Given the description of an element on the screen output the (x, y) to click on. 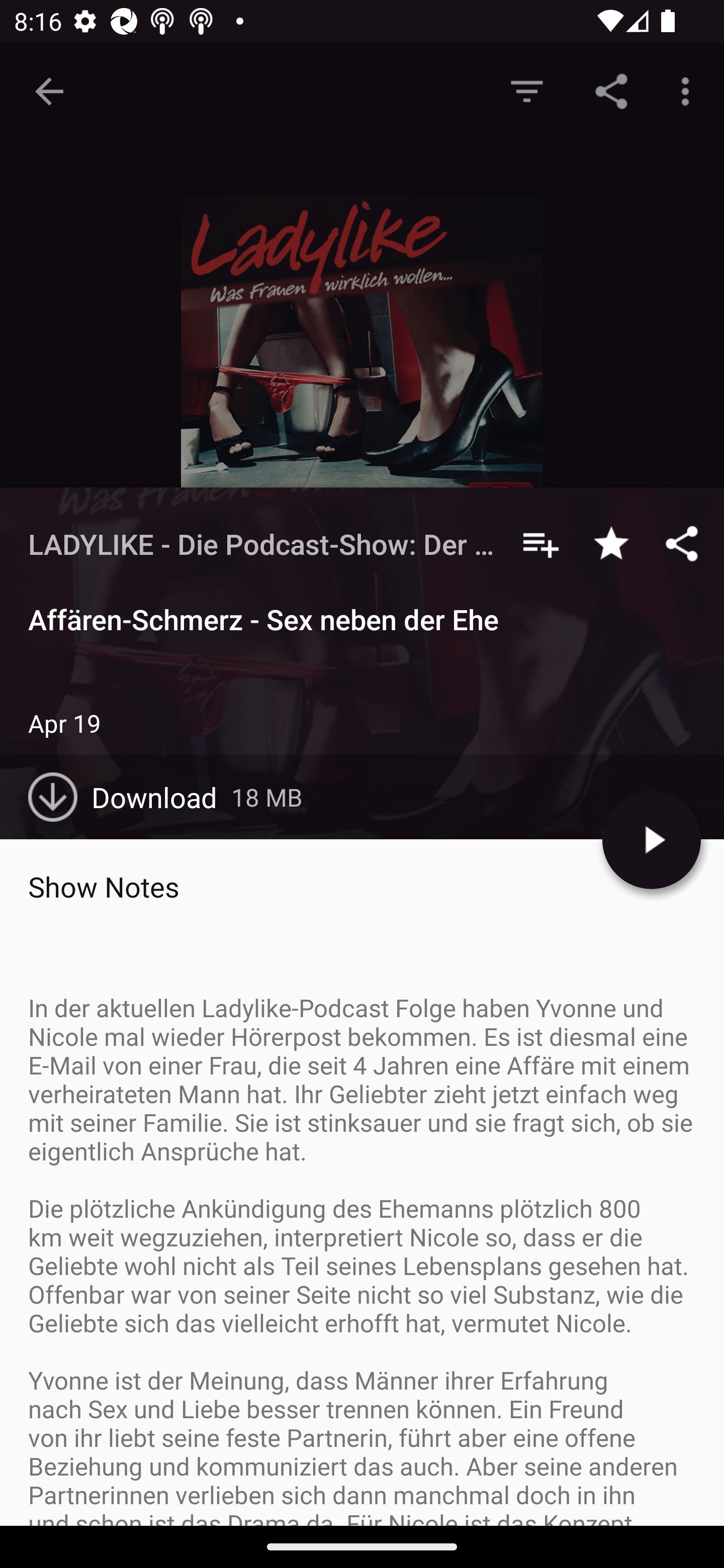
Download (129, 797)
